Given the description of an element on the screen output the (x, y) to click on. 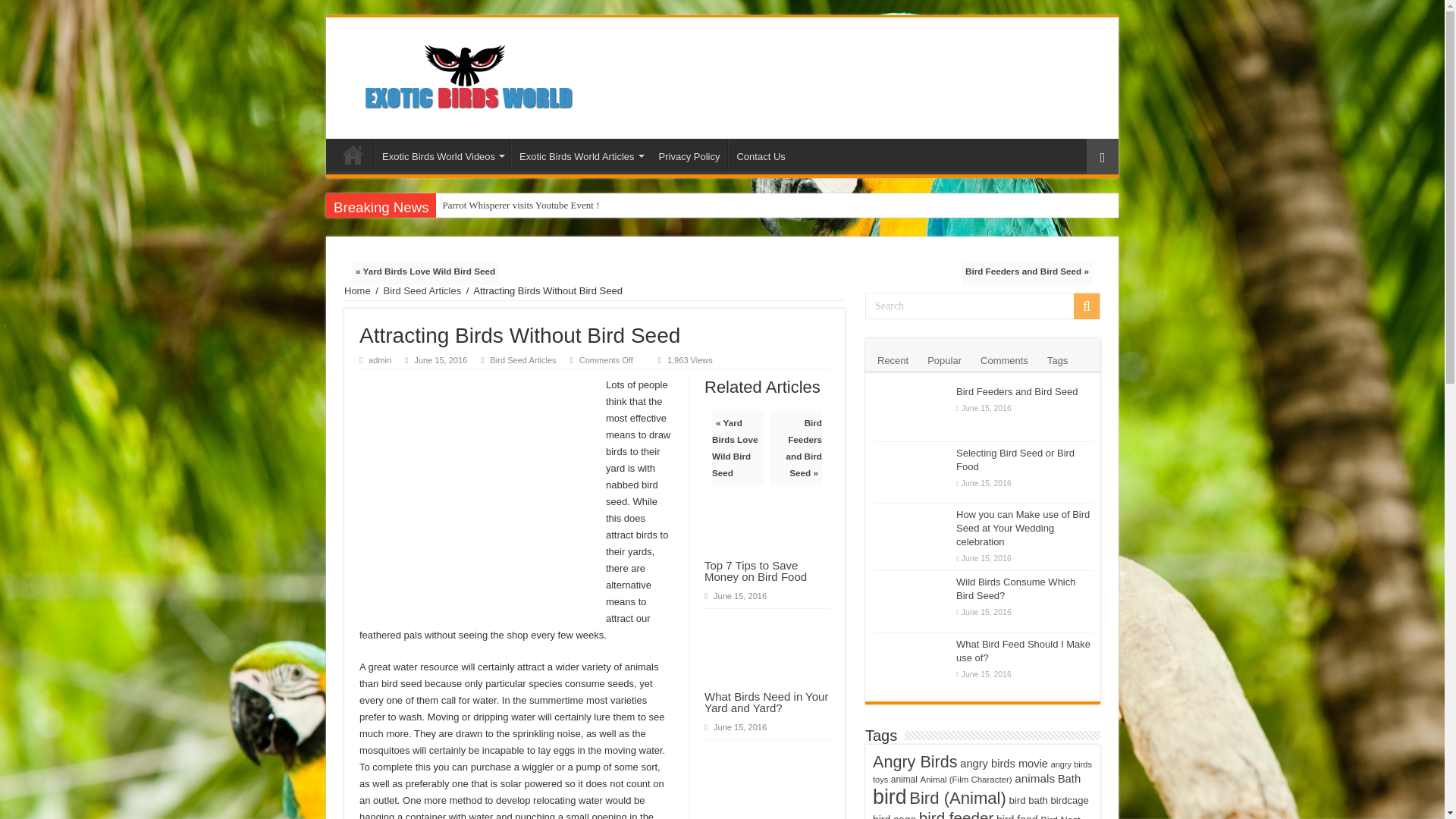
admin (379, 359)
Exotic Birds World Articles (580, 154)
Exotic Birds World (469, 74)
Search (982, 305)
Parrot Whisperer visits Youtube Event ! (581, 205)
Home (357, 290)
Contact Us (760, 154)
Home (352, 154)
Exotic Birds World Videos (442, 154)
Privacy Policy (689, 154)
Parrot Whisperer visits Youtube Event ! (581, 205)
Bird Seed Articles (522, 359)
Bird Seed Articles (422, 290)
Random Article (1102, 156)
